Given the description of an element on the screen output the (x, y) to click on. 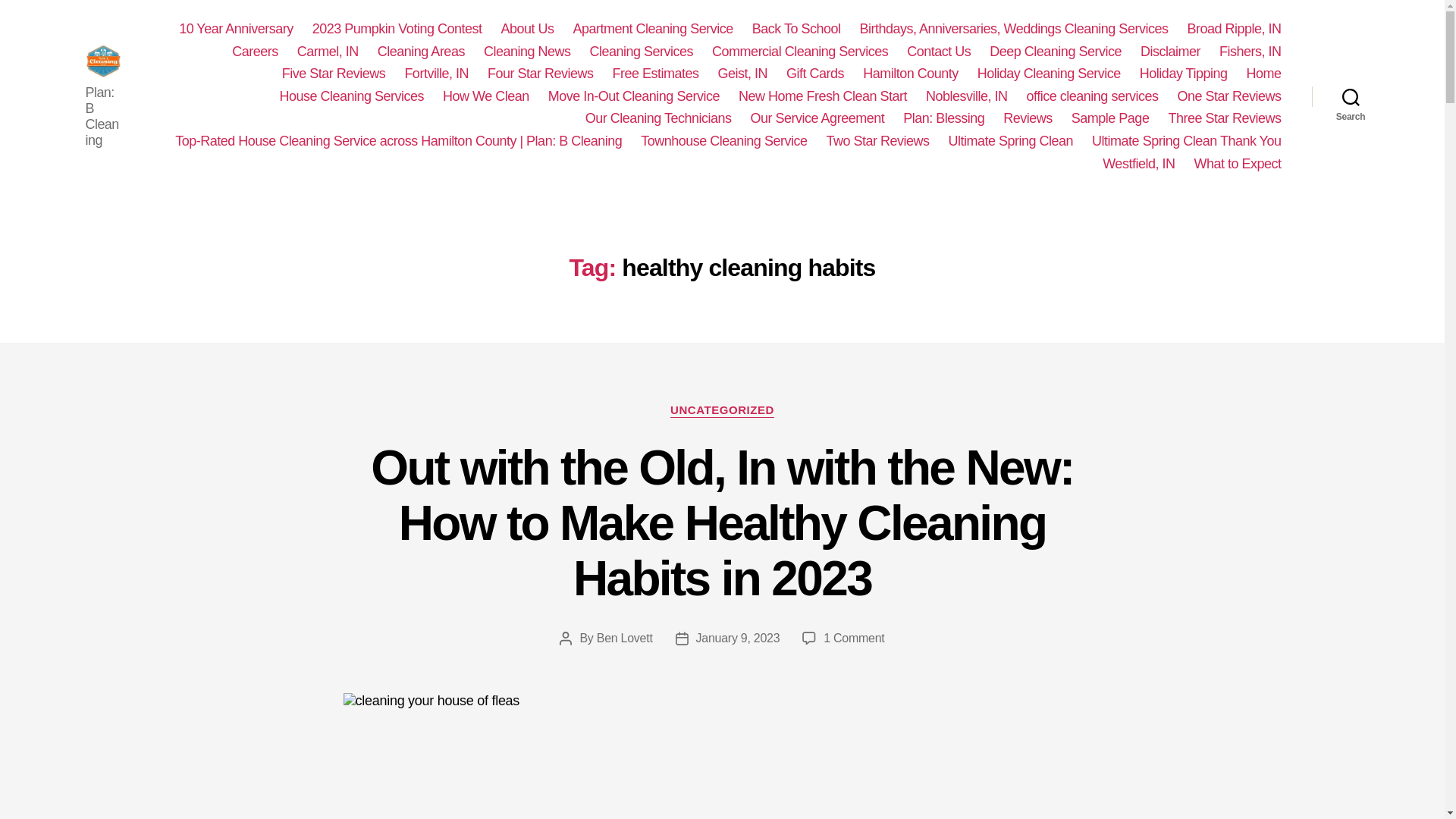
Disclaimer (1169, 52)
Four Star Reviews (540, 74)
office cleaning services (1092, 96)
House Cleaning Services (351, 96)
10 Year Anniversary (236, 29)
Apartment Cleaning Service (653, 29)
About Us (526, 29)
Carmel, IN (327, 52)
Our Cleaning Technicians (658, 118)
Home (1263, 74)
